Given the description of an element on the screen output the (x, y) to click on. 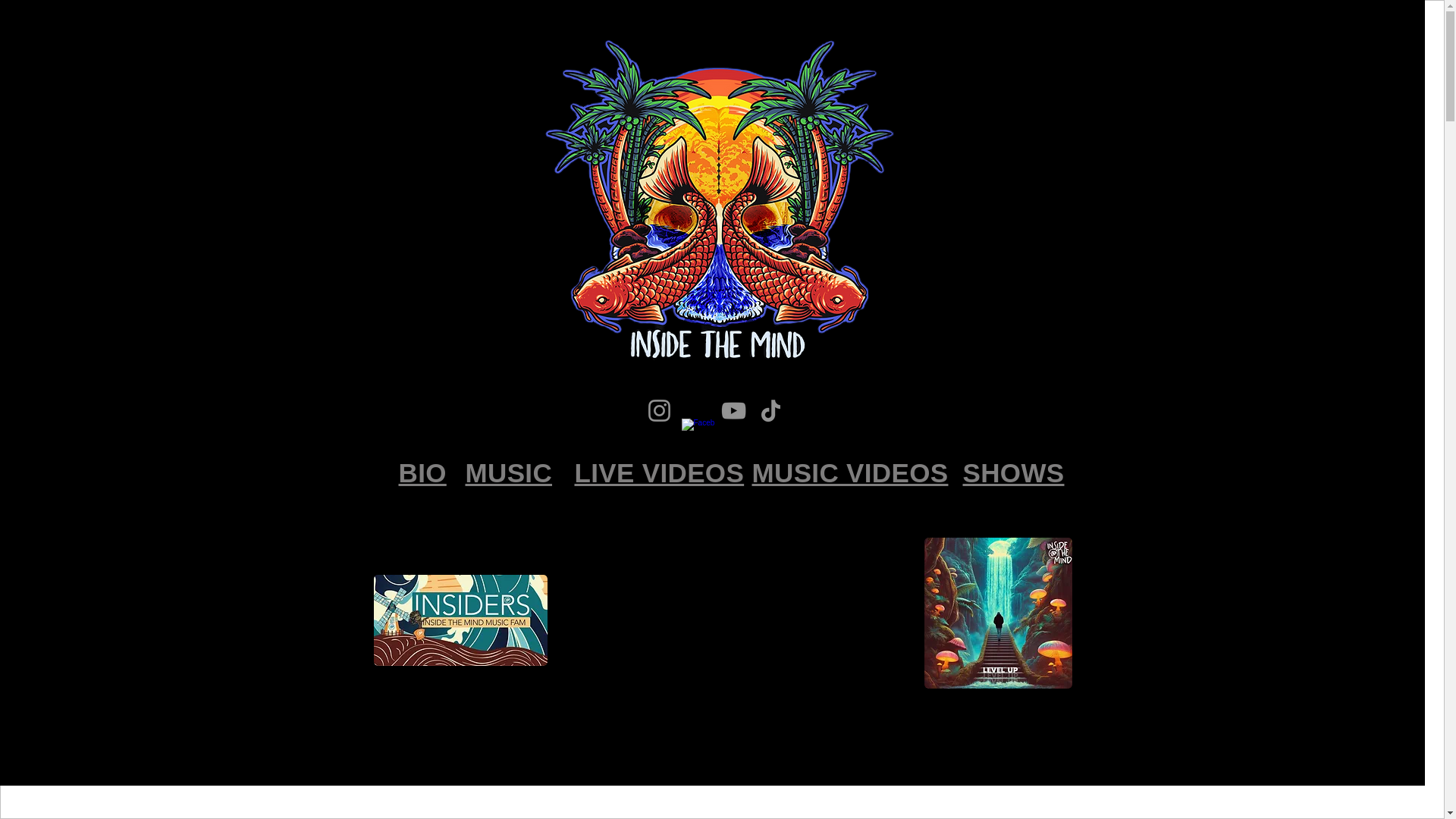
MUSIC VIDEOS (850, 472)
LIVE VIDEOS (659, 472)
MUSIC (509, 472)
SHOWS (1013, 472)
BIO (422, 472)
